Given the description of an element on the screen output the (x, y) to click on. 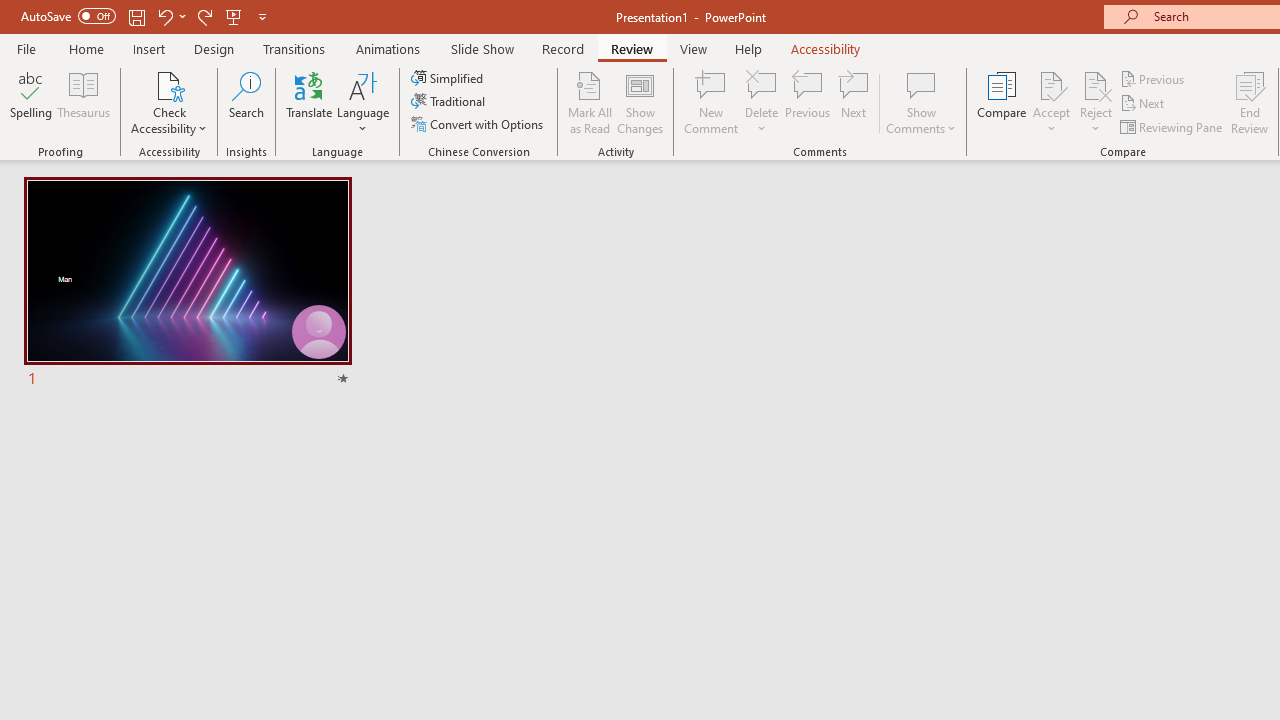
Spelling... (31, 102)
Show Changes (639, 102)
New Comment (711, 102)
Traditional (449, 101)
Reject (1096, 102)
